Given the description of an element on the screen output the (x, y) to click on. 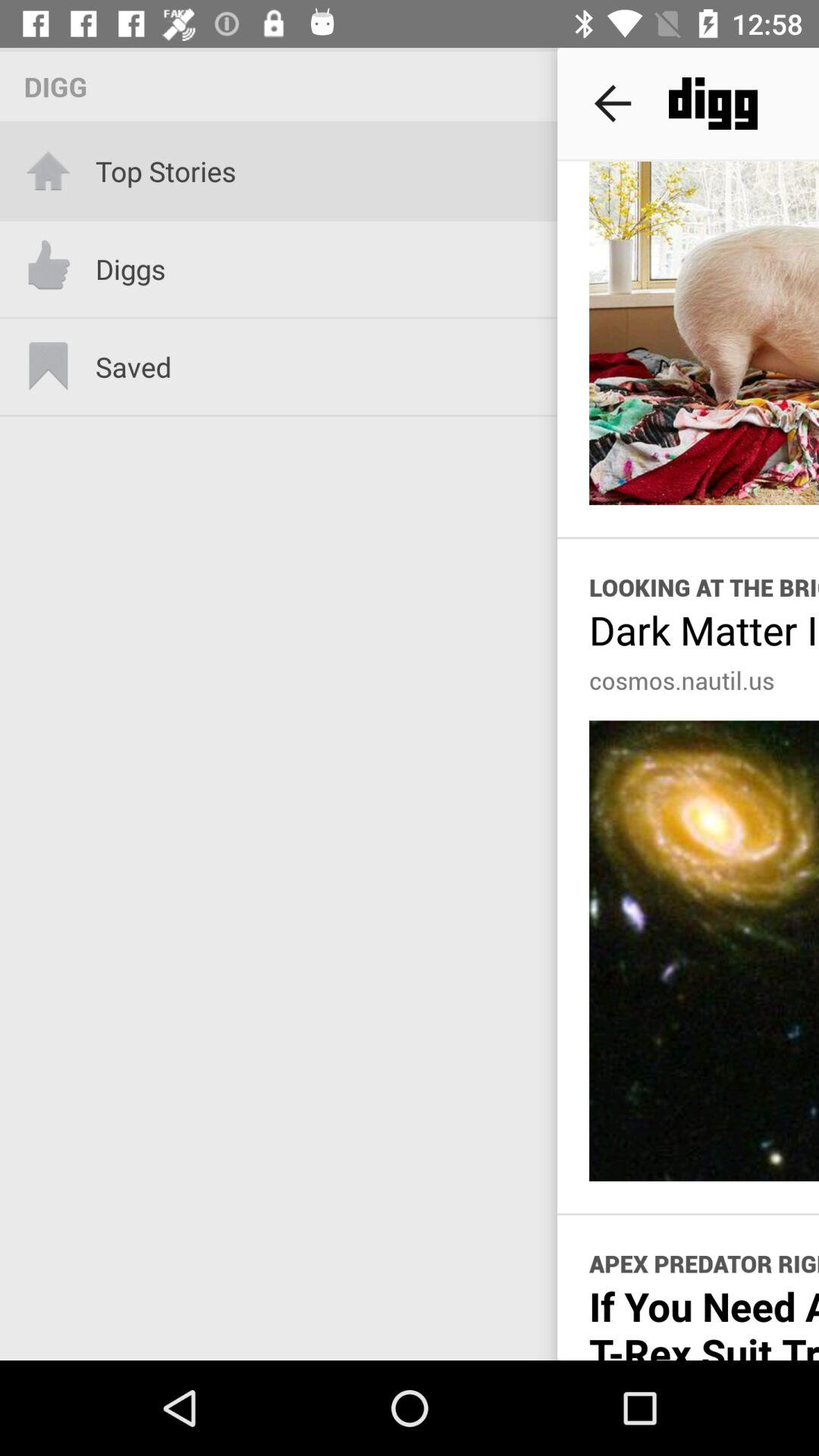
launch item below apex predator right (704, 1319)
